Given the description of an element on the screen output the (x, y) to click on. 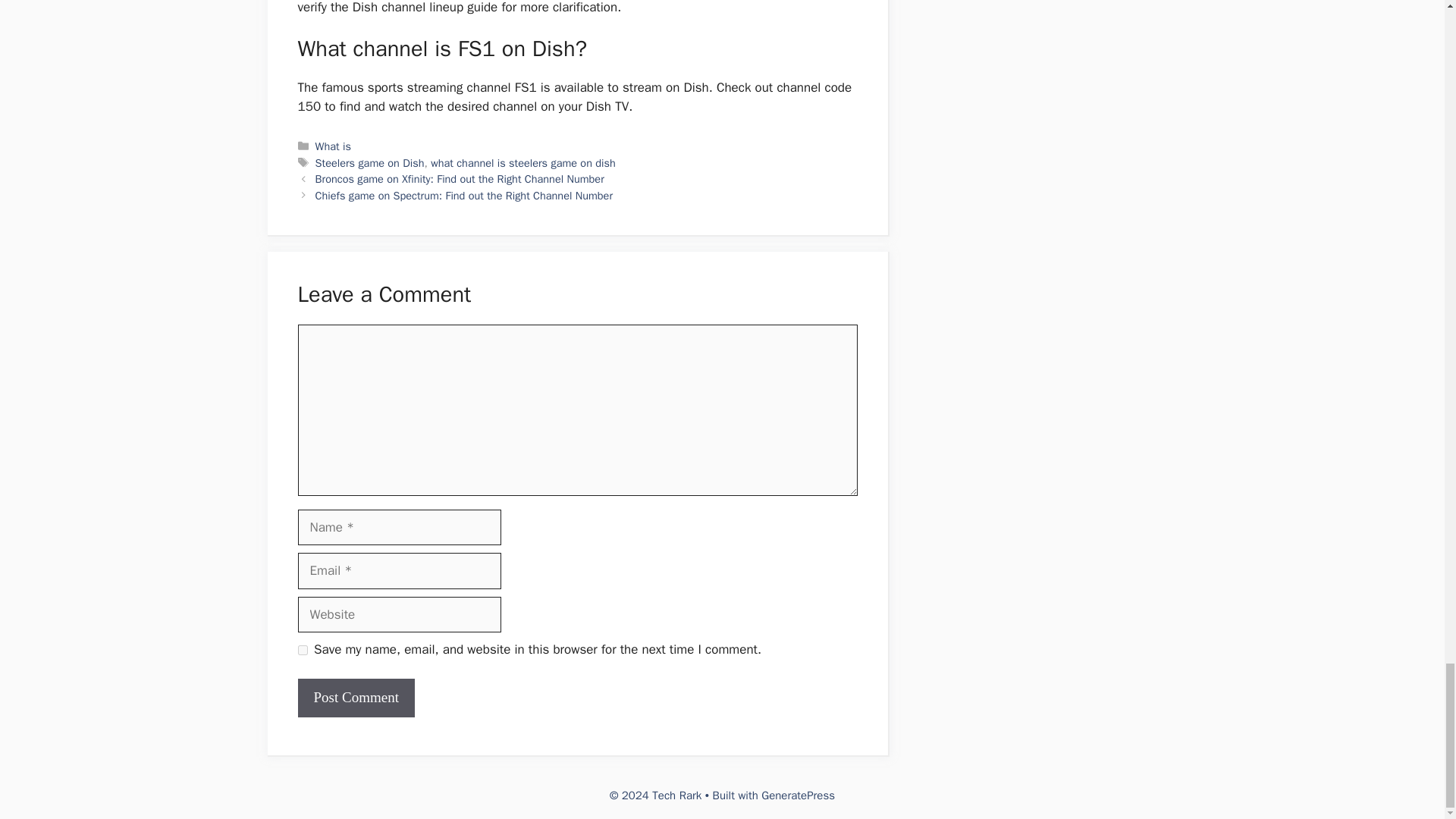
what channel is steelers game on dish (522, 162)
yes (302, 650)
GeneratePress (797, 795)
Broncos game on Xfinity: Find out the Right Channel Number (459, 178)
What is (332, 146)
Post Comment (355, 697)
Steelers game on Dish (370, 162)
Chiefs game on Spectrum: Find out the Right Channel Number (463, 195)
Post Comment (355, 697)
